Given the description of an element on the screen output the (x, y) to click on. 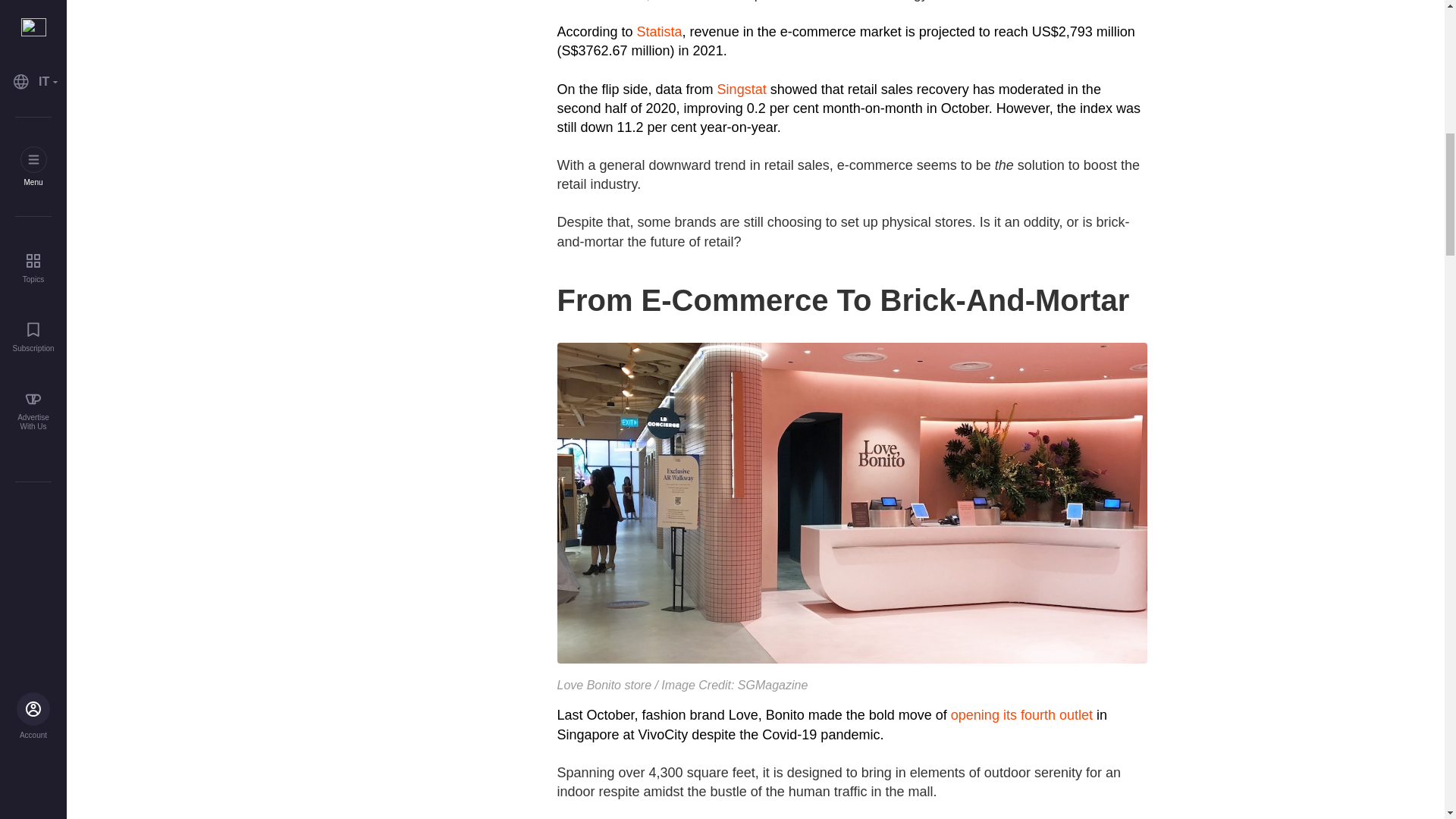
opening its fourth outlet (1021, 714)
Singstat (742, 89)
Statista (659, 31)
